Given the description of an element on the screen output the (x, y) to click on. 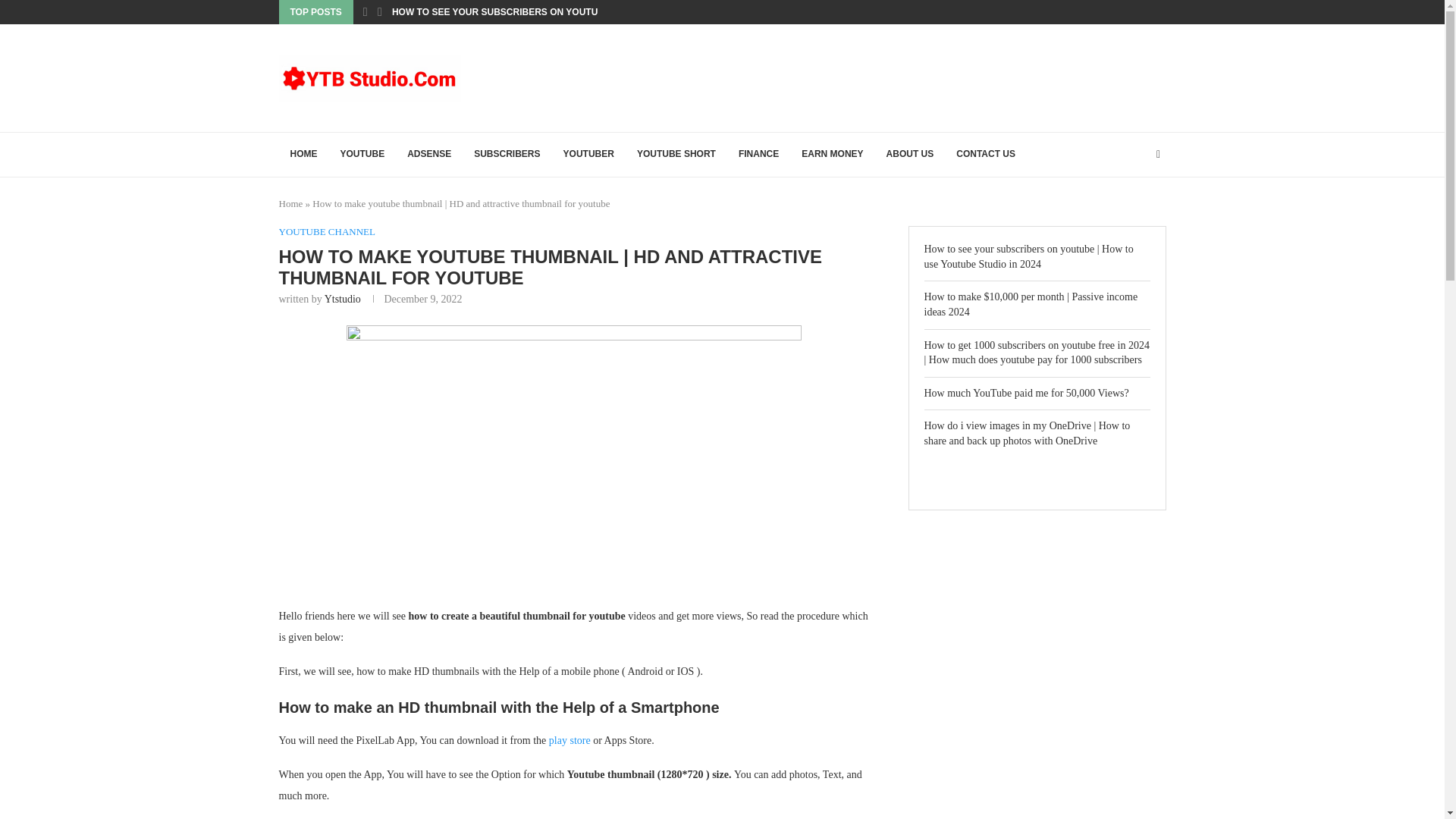
Home (290, 203)
ABOUT US (909, 154)
YOUTUBE (362, 154)
HOME (304, 154)
YOUTUBER (588, 154)
YOUTUBE SHORT (676, 154)
YOUTUBE CHANNEL (327, 232)
How to make youtube thumbnail (574, 455)
EARN MONEY (832, 154)
CONTACT US (985, 154)
